Given the description of an element on the screen output the (x, y) to click on. 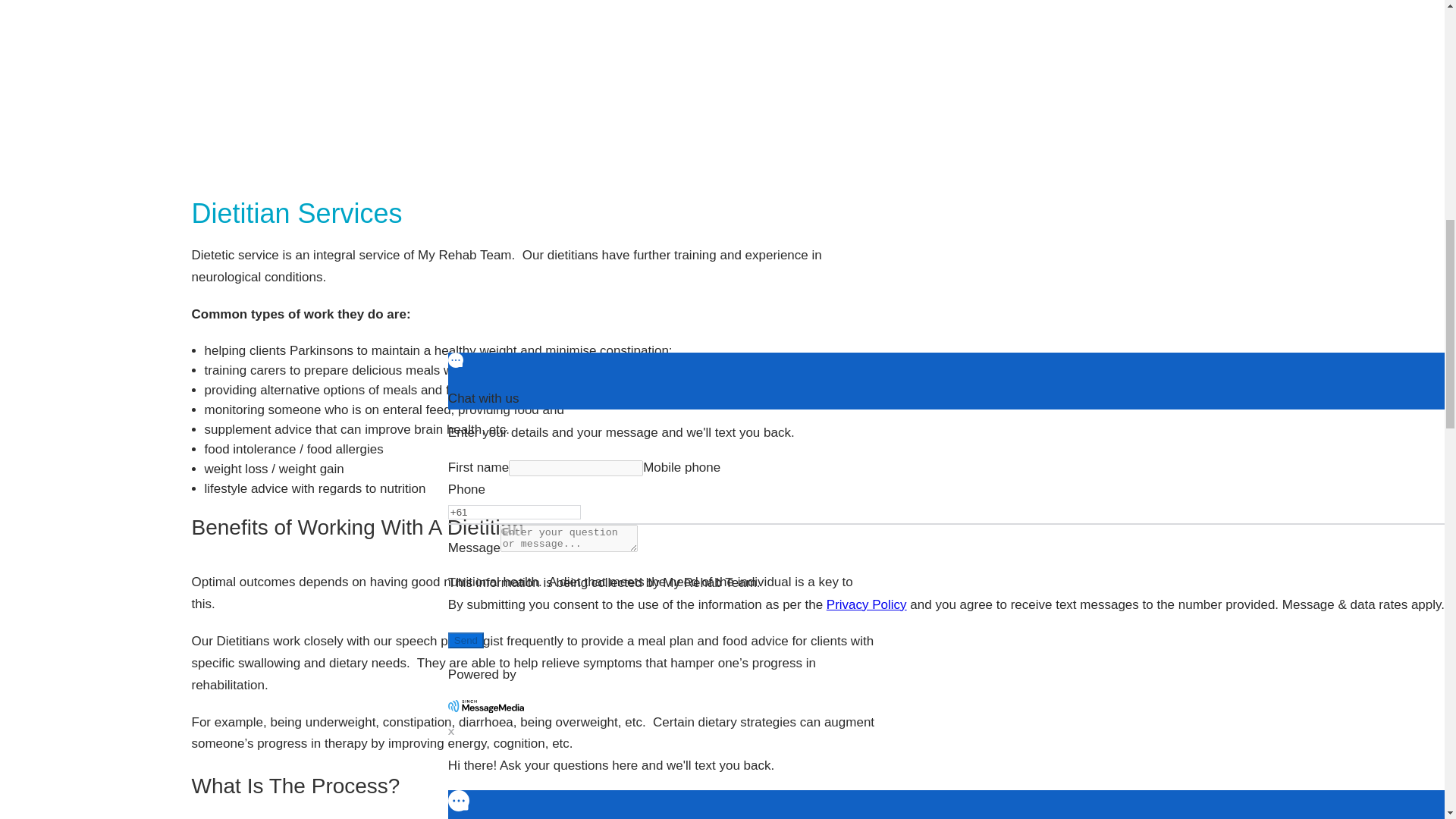
MRT Dietitian Overview (534, 84)
